Given the description of an element on the screen output the (x, y) to click on. 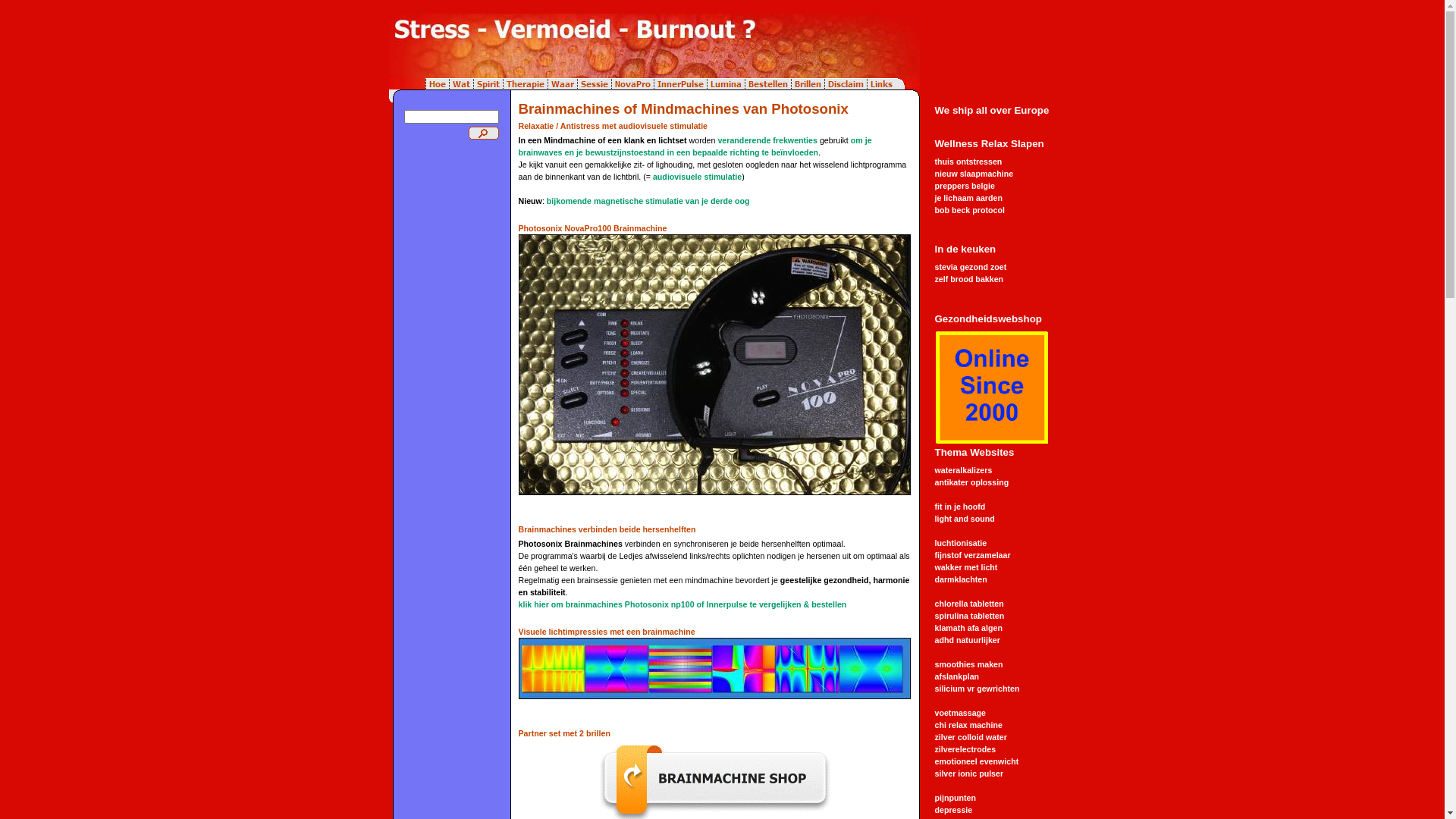
audiovisuele stimulatie Element type: text (696, 176)
bijkomende magnetische stimulatie van je derde oog Element type: text (647, 200)
klamath afa algen Element type: text (967, 627)
wateralkalizers Element type: text (962, 469)
bob beck protocol Element type: text (969, 209)
pijnpunten Element type: text (954, 797)
nieuw slaapmachine Element type: text (973, 173)
antikater oplossing Element type: text (971, 481)
zelf brood bakken Element type: text (968, 278)
silicium vr gewrichten Element type: text (976, 688)
veranderende frekwenties Element type: text (767, 139)
luchtionisatie Element type: text (960, 542)
smoothies maken Element type: text (968, 663)
fit in je hoofd Element type: text (959, 506)
adhd natuurlijker Element type: text (966, 639)
light and sound Element type: text (964, 518)
thuis ontstressen Element type: text (967, 161)
depressie Element type: text (953, 809)
darmklachten Element type: text (960, 578)
stevia gezond zoet Element type: text (970, 266)
emotioneel evenwicht Element type: text (976, 760)
chi relax machine Element type: text (967, 724)
fijnstof verzamelaar Element type: text (972, 554)
zilverelectrodes Element type: text (964, 748)
afslankplan Element type: text (956, 675)
je lichaam aarden Element type: text (967, 197)
wakker met licht Element type: text (965, 566)
silver ionic pulser Element type: text (968, 773)
spirulina tabletten Element type: text (969, 615)
chlorella tabletten Element type: text (968, 603)
preppers belgie Element type: text (964, 185)
zilver colloid water Element type: text (970, 736)
voetmassage Element type: text (959, 712)
